Given the description of an element on the screen output the (x, y) to click on. 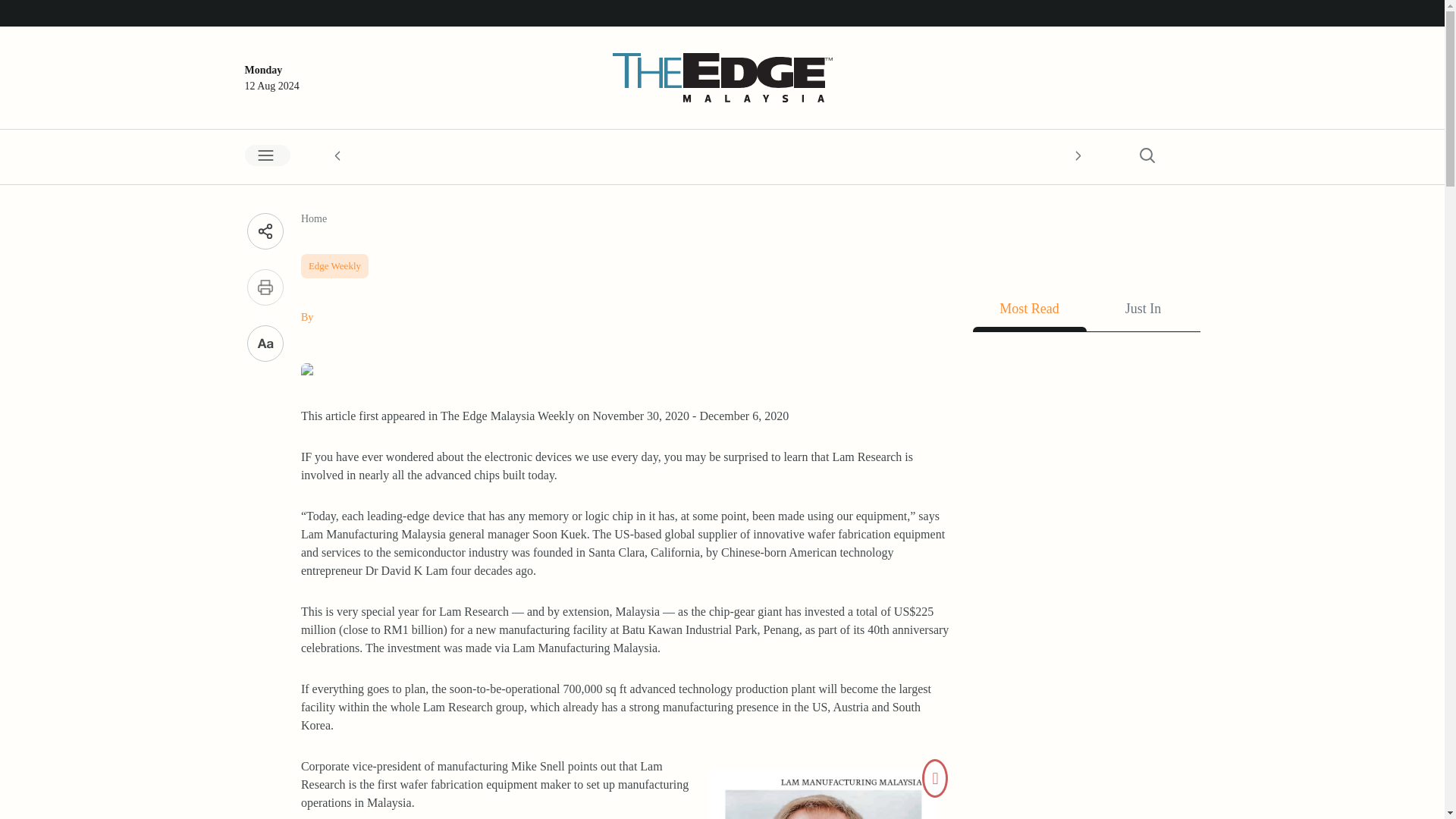
Just In (1142, 312)
Edge Weekly (334, 262)
Home (313, 218)
Most Read (1029, 312)
